Given the description of an element on the screen output the (x, y) to click on. 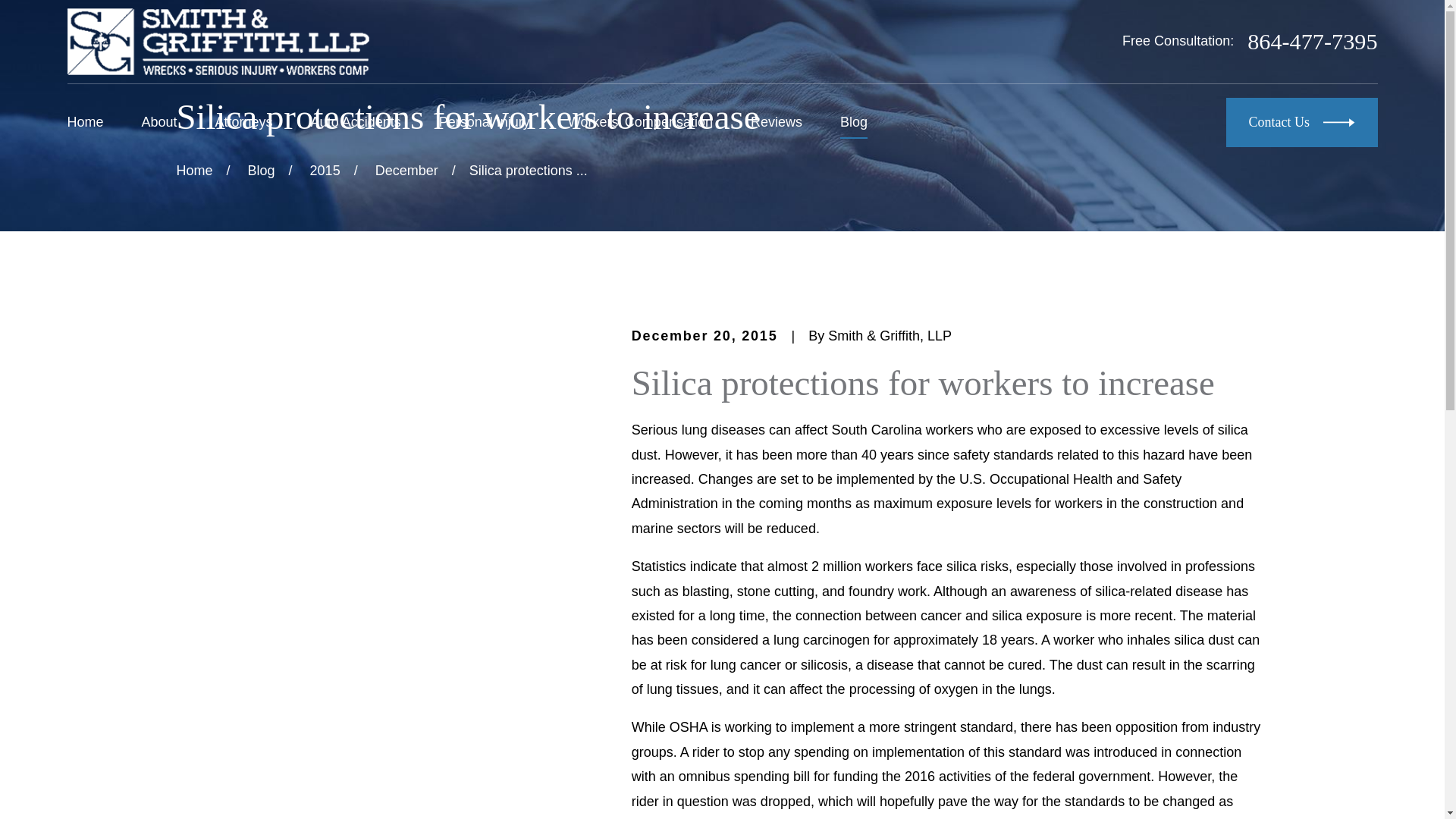
Attorneys (244, 122)
864-477-7395 (1312, 41)
Workers' Compensation (640, 122)
Auto Accidents (356, 122)
Home (217, 41)
Personal Injury (484, 122)
Go Home (194, 170)
